Given the description of an element on the screen output the (x, y) to click on. 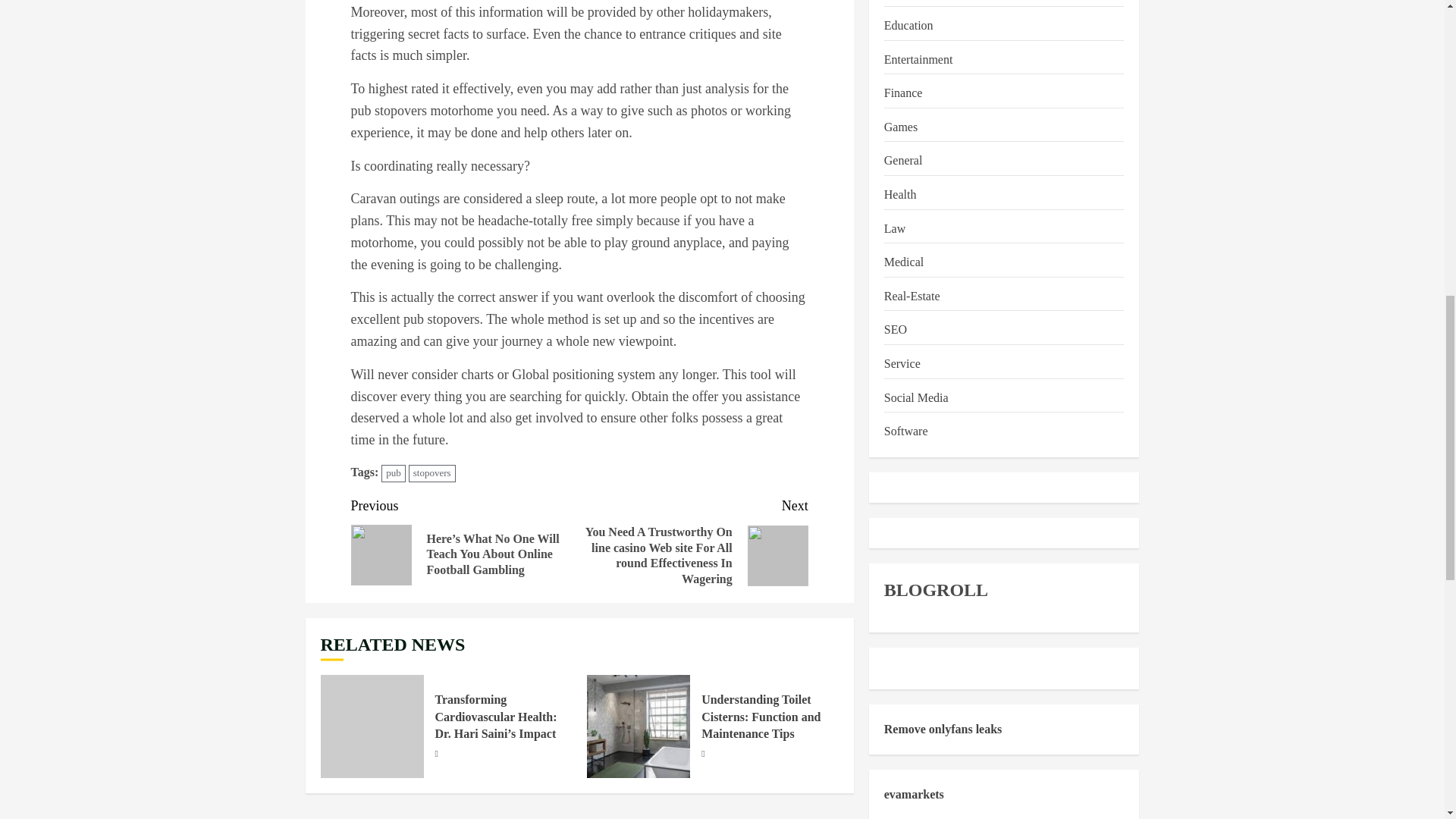
pub (393, 473)
stopovers (432, 473)
Business (905, 1)
General (903, 160)
Entertainment (918, 59)
Games (900, 127)
Education (908, 25)
Health (900, 195)
Law (894, 229)
Finance (903, 93)
Understanding Toilet Cisterns: Function and Maintenance Tips (761, 716)
Understanding Toilet Cisterns: Function and Maintenance Tips (638, 726)
